Given the description of an element on the screen output the (x, y) to click on. 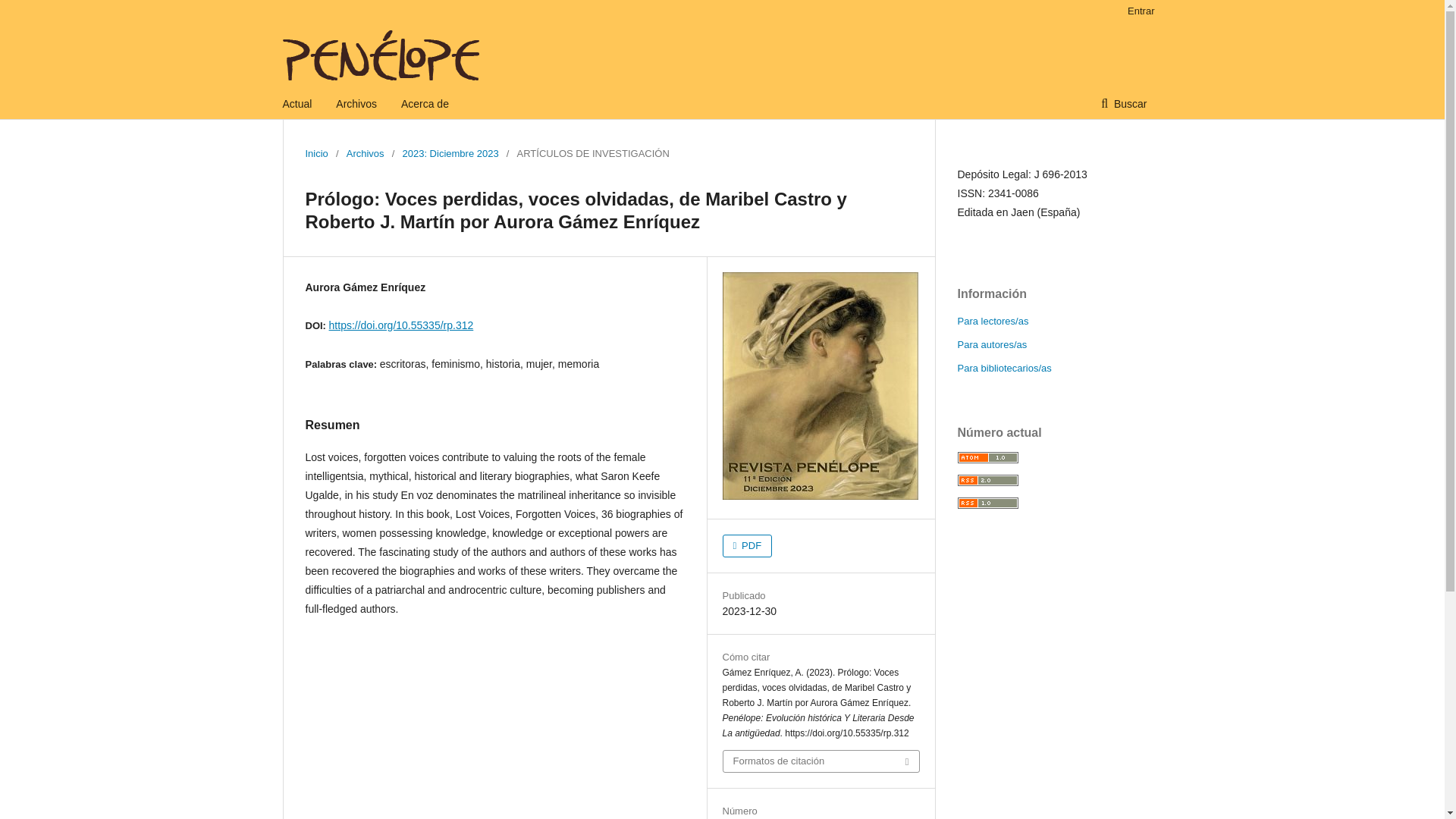
Acerca de (424, 103)
PDF (746, 545)
Archivos (365, 153)
Actual (296, 103)
2023: Diciembre 2023 (449, 153)
Inicio (315, 153)
Buscar (1123, 103)
Archivos (356, 103)
Entrar (1136, 11)
